Given the description of an element on the screen output the (x, y) to click on. 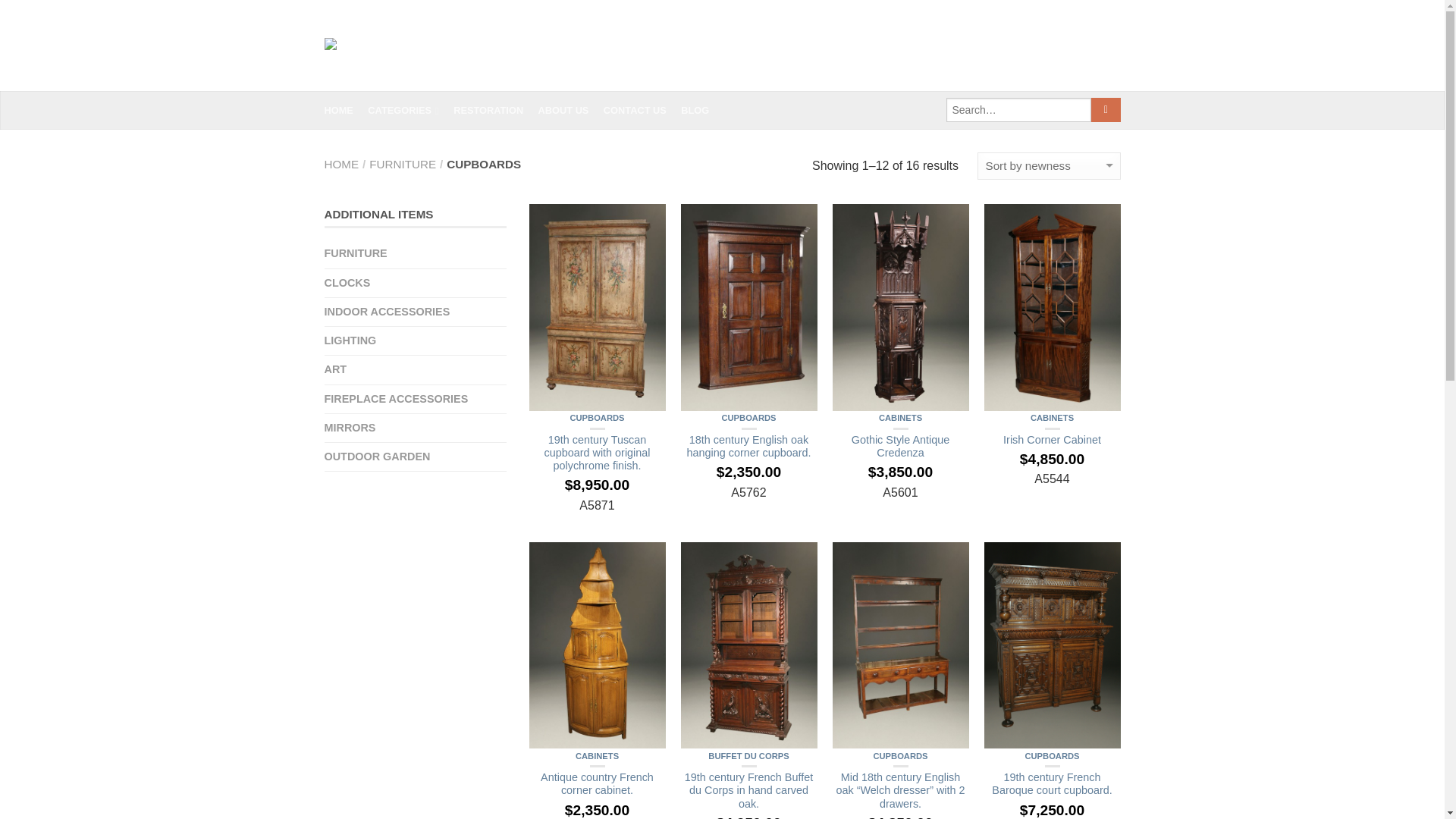
CUPBOARDS (748, 417)
CUPBOARDS (596, 417)
RESTORATION (493, 110)
Beauchamp Antiques - Fine Antiques (488, 45)
HOME (341, 164)
CONTACT US (641, 110)
CATEGORIES (408, 110)
HOME (344, 110)
FURNITURE (402, 164)
Gothic Style Antique Credenza (900, 456)
18th century English oak hanging corner cupboard. (748, 456)
ABOUT US (568, 110)
BLOG (700, 110)
CABINETS (900, 417)
